Given the description of an element on the screen output the (x, y) to click on. 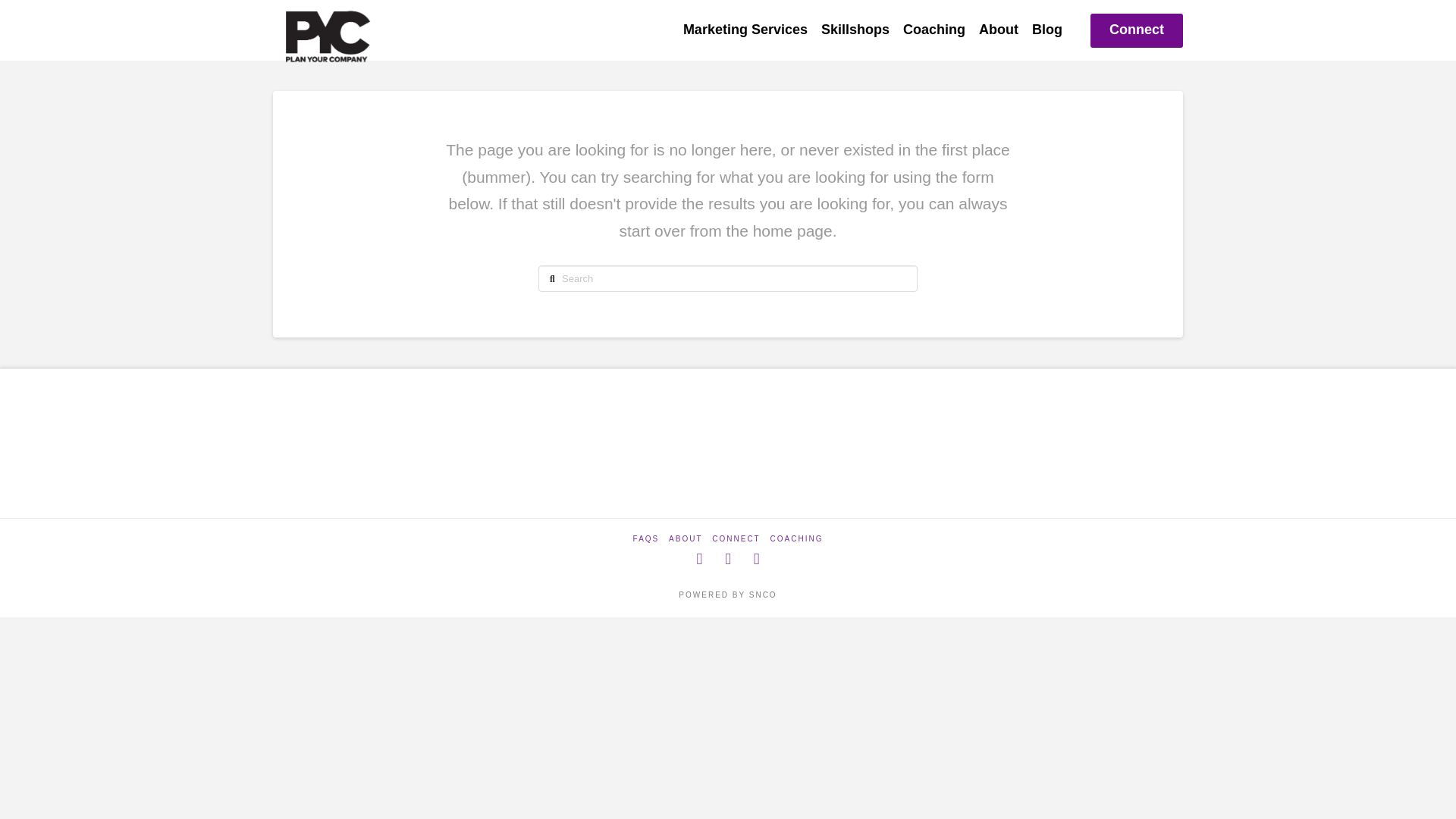
Blog (1046, 29)
Facebook (698, 559)
COACHING (797, 538)
Marketing Services (745, 29)
Connect (1136, 30)
FAQS (646, 538)
Coaching (934, 29)
Skillshops (854, 29)
LinkedIn (757, 559)
CONNECT (735, 538)
About (998, 29)
ABOUT (684, 538)
